Given the description of an element on the screen output the (x, y) to click on. 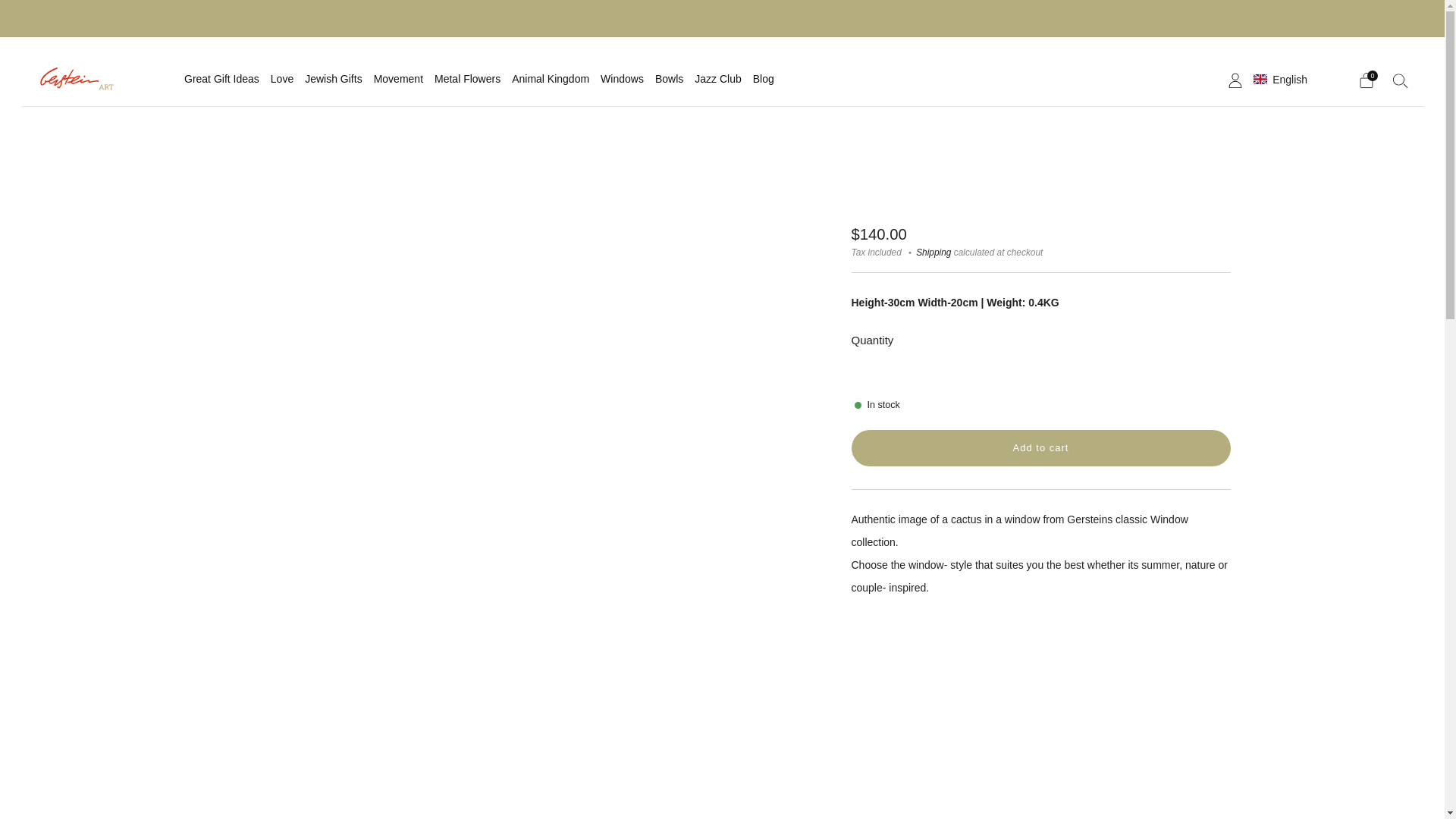
Bowls (668, 78)
Great Gift Ideas (221, 78)
Jazz Club (717, 78)
Metal Flowers (466, 78)
0 (1366, 79)
Windows (621, 78)
Movement (398, 78)
Love (282, 78)
Jewish Gifts (332, 78)
Animal Kingdom (550, 78)
